Given the description of an element on the screen output the (x, y) to click on. 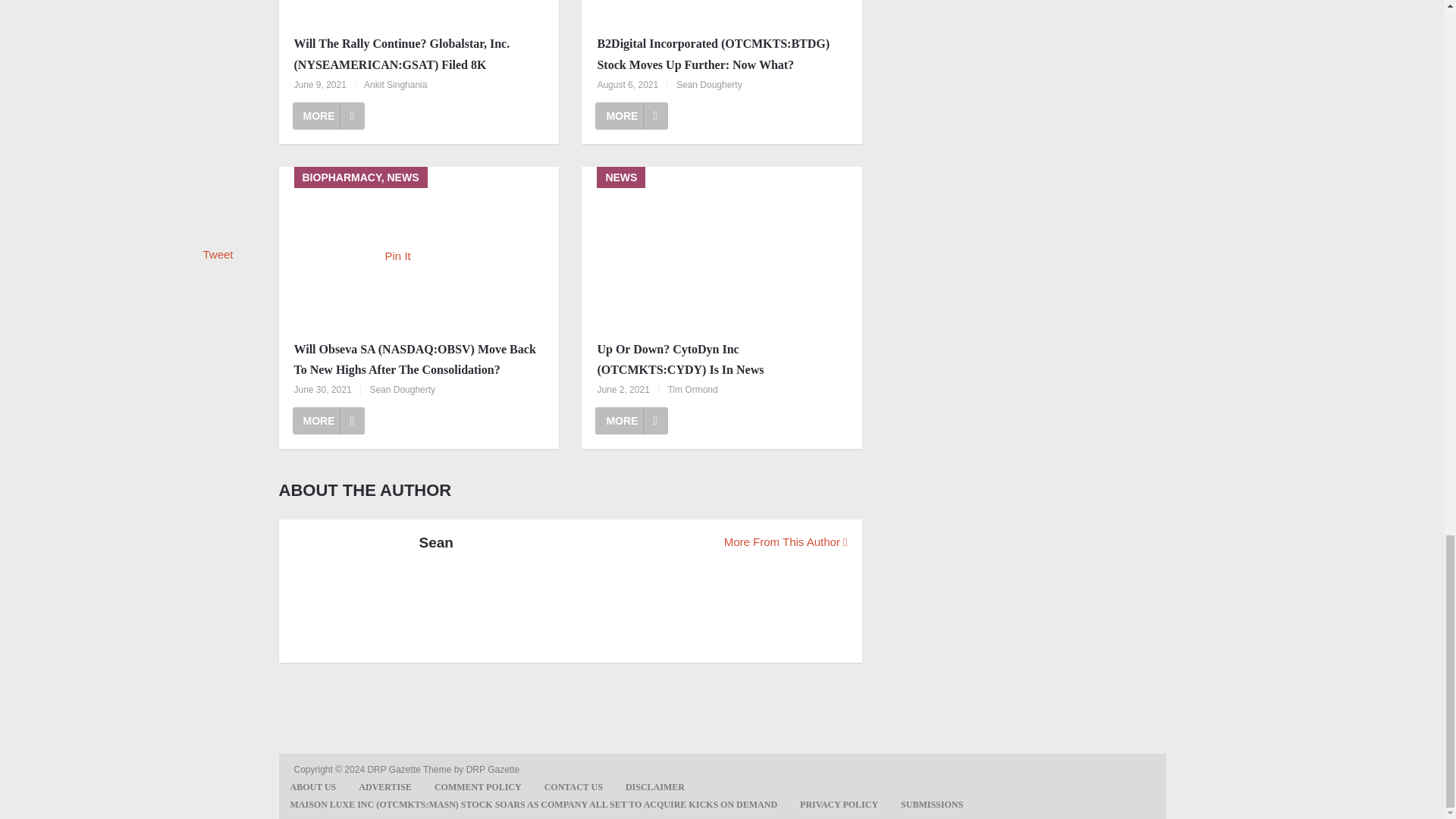
MORE (328, 420)
NEWS (419, 12)
Posts by Sean Dougherty (709, 84)
MORE (631, 420)
BIOPHARMACY, NEWS (419, 248)
Posts by Ankit Singhania (395, 84)
Sean Dougherty (709, 84)
NEWS (720, 248)
MORE (631, 115)
Sean (435, 542)
